Given the description of an element on the screen output the (x, y) to click on. 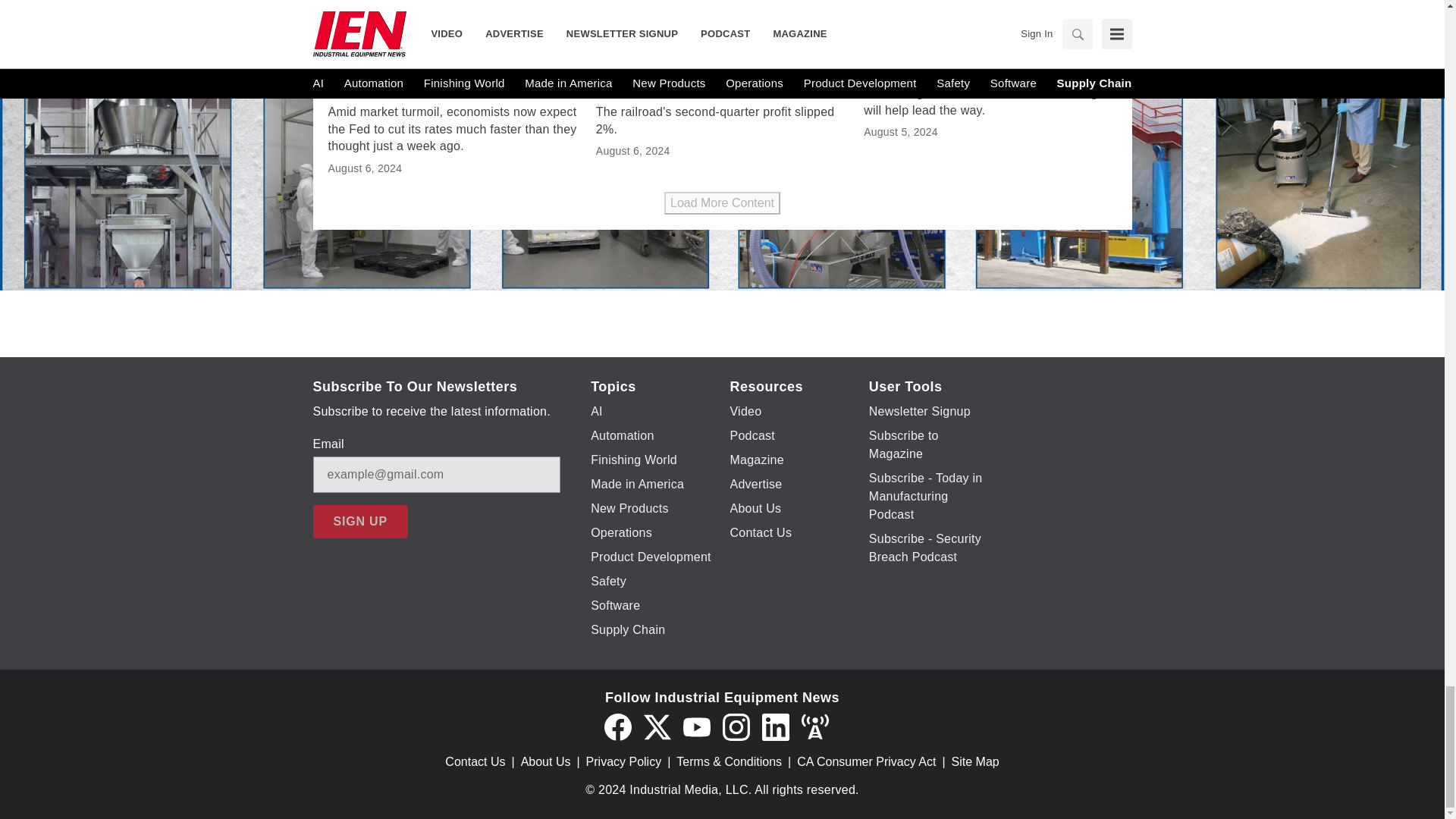
Facebook icon (617, 727)
YouTube icon (696, 727)
Twitter X icon (656, 727)
Instagram icon (735, 727)
LinkedIn icon (775, 727)
